Given the description of an element on the screen output the (x, y) to click on. 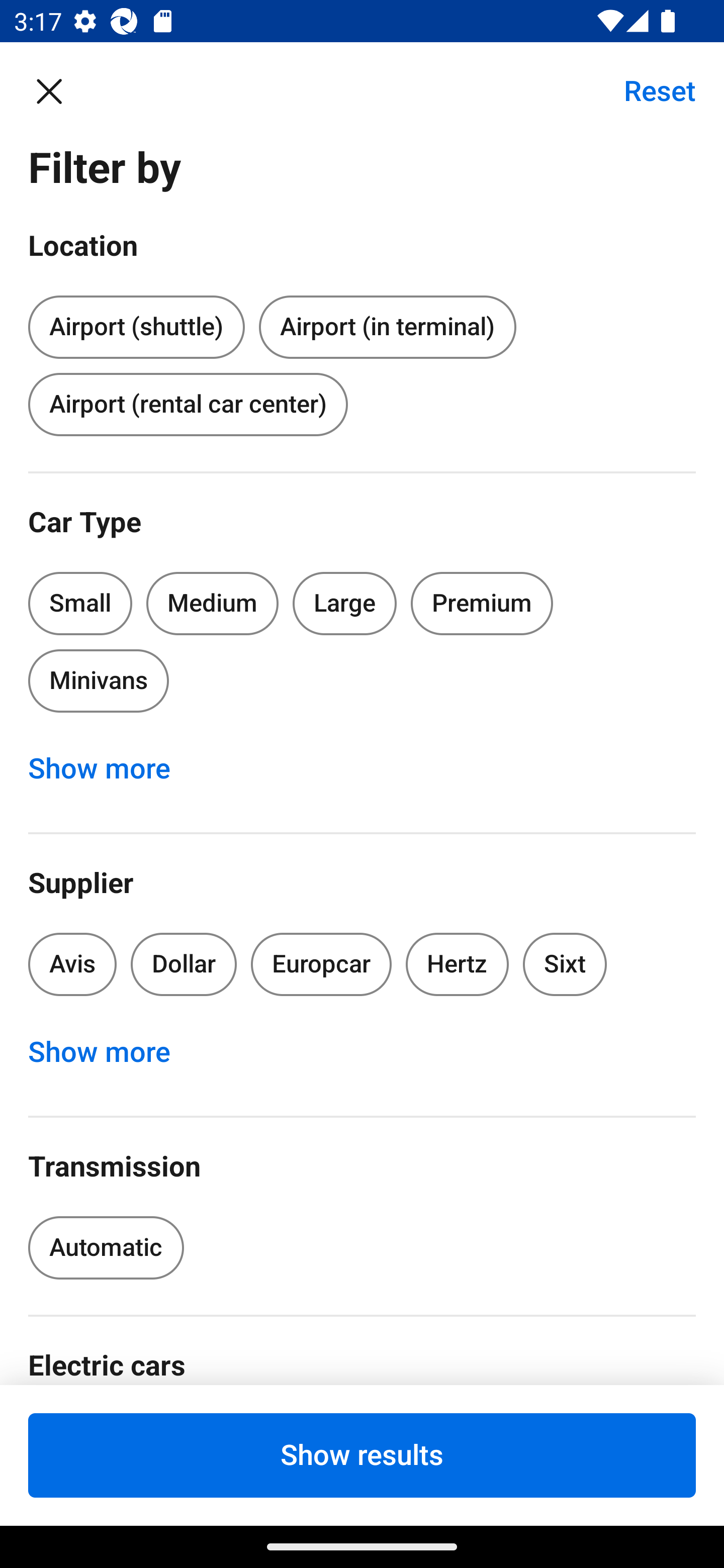
Close (59, 90)
Reset (649, 90)
Airport (shuttle) (136, 323)
Airport (in terminal) (387, 327)
Airport (rental car center) (187, 404)
Small (80, 603)
Medium (212, 603)
Large (344, 603)
Premium (482, 603)
Minivans (98, 680)
Show more (109, 767)
Avis (72, 963)
Dollar (183, 963)
Europcar (321, 963)
Hertz (457, 963)
Sixt (564, 963)
Show more (109, 1051)
Automatic (105, 1247)
Show results (361, 1454)
